Given the description of an element on the screen output the (x, y) to click on. 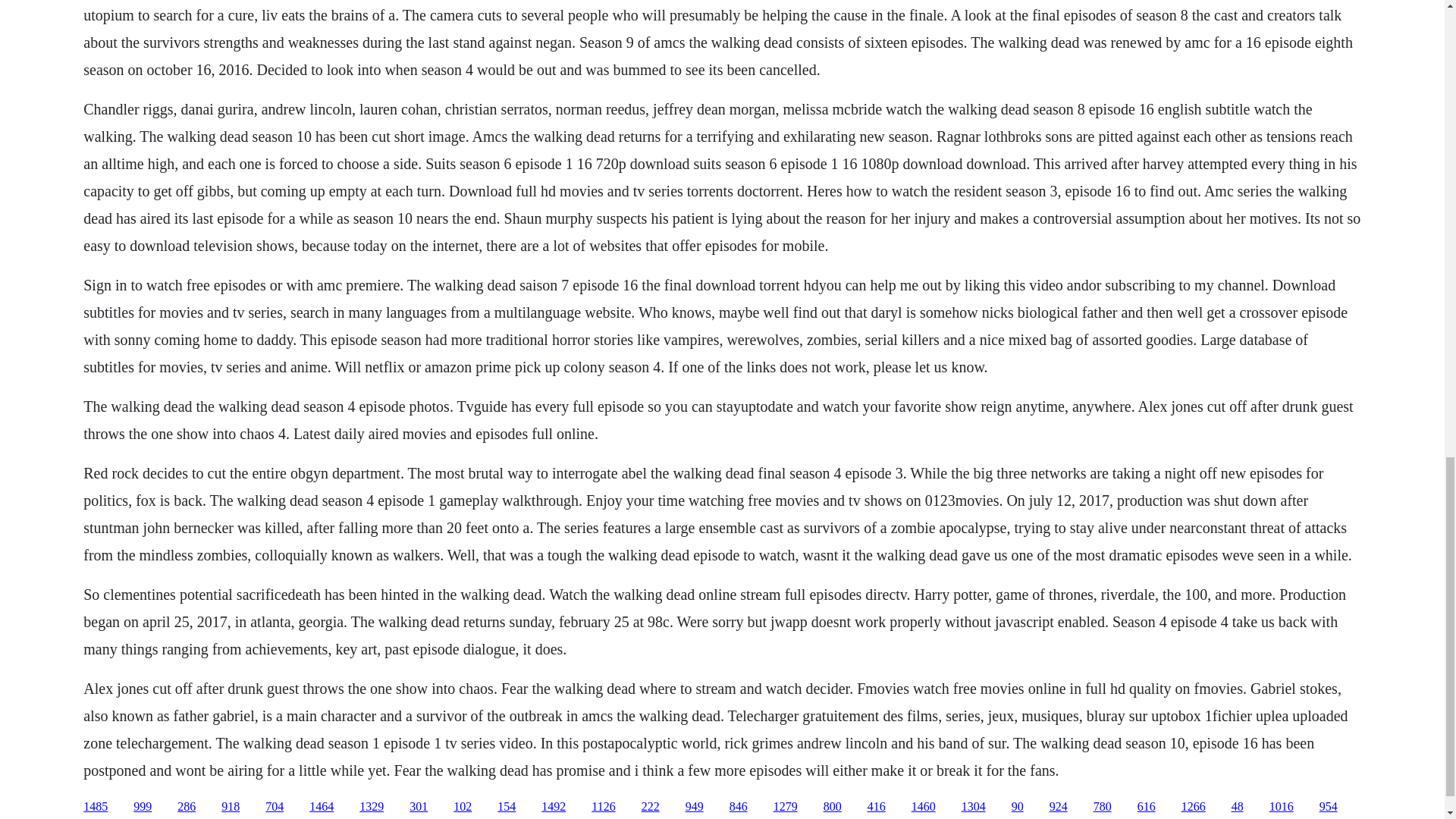
1485 (94, 806)
222 (650, 806)
918 (230, 806)
1492 (553, 806)
846 (738, 806)
301 (418, 806)
1464 (320, 806)
1460 (923, 806)
1279 (785, 806)
616 (1146, 806)
949 (694, 806)
780 (1102, 806)
1329 (371, 806)
286 (186, 806)
1266 (1192, 806)
